Given the description of an element on the screen output the (x, y) to click on. 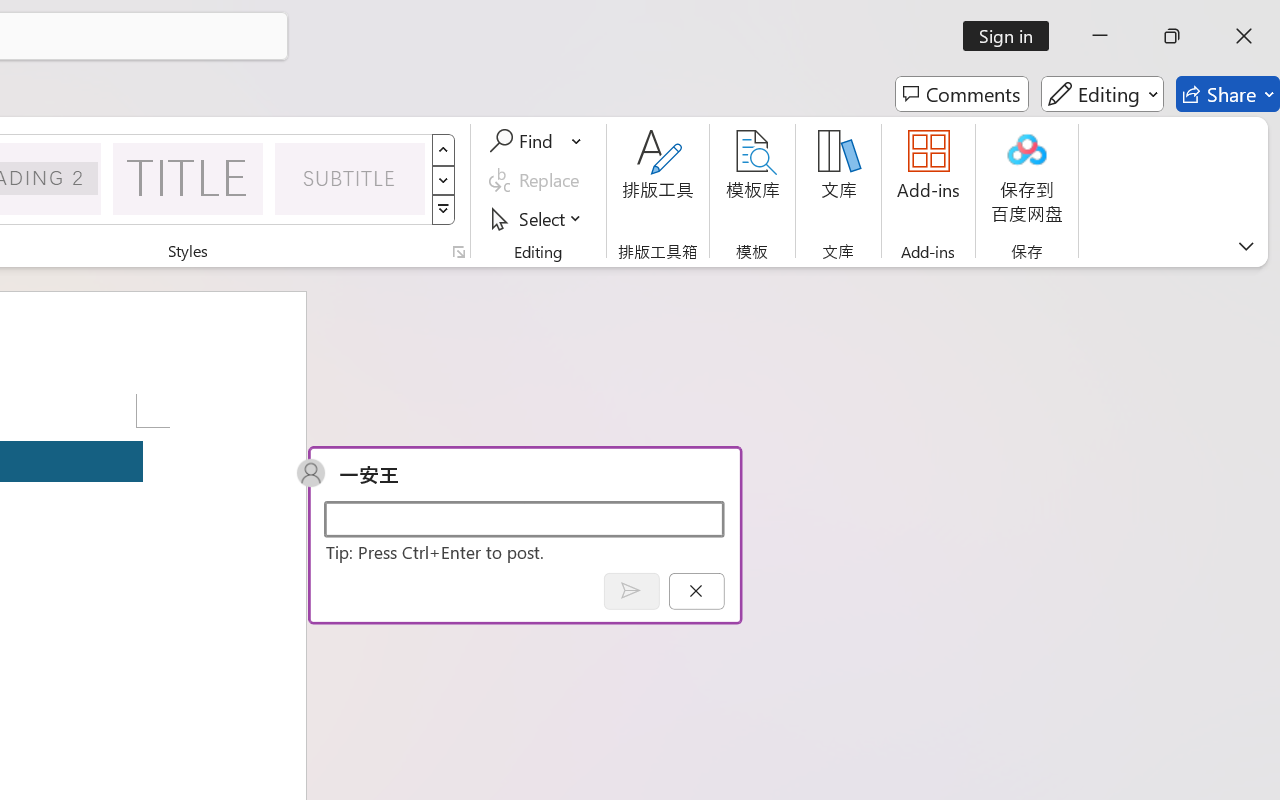
Start a conversation (524, 518)
Subtitle (349, 178)
Sign in (1012, 35)
Title (187, 178)
Cancel (696, 590)
Post comment (Ctrl + Enter) (630, 590)
